Given the description of an element on the screen output the (x, y) to click on. 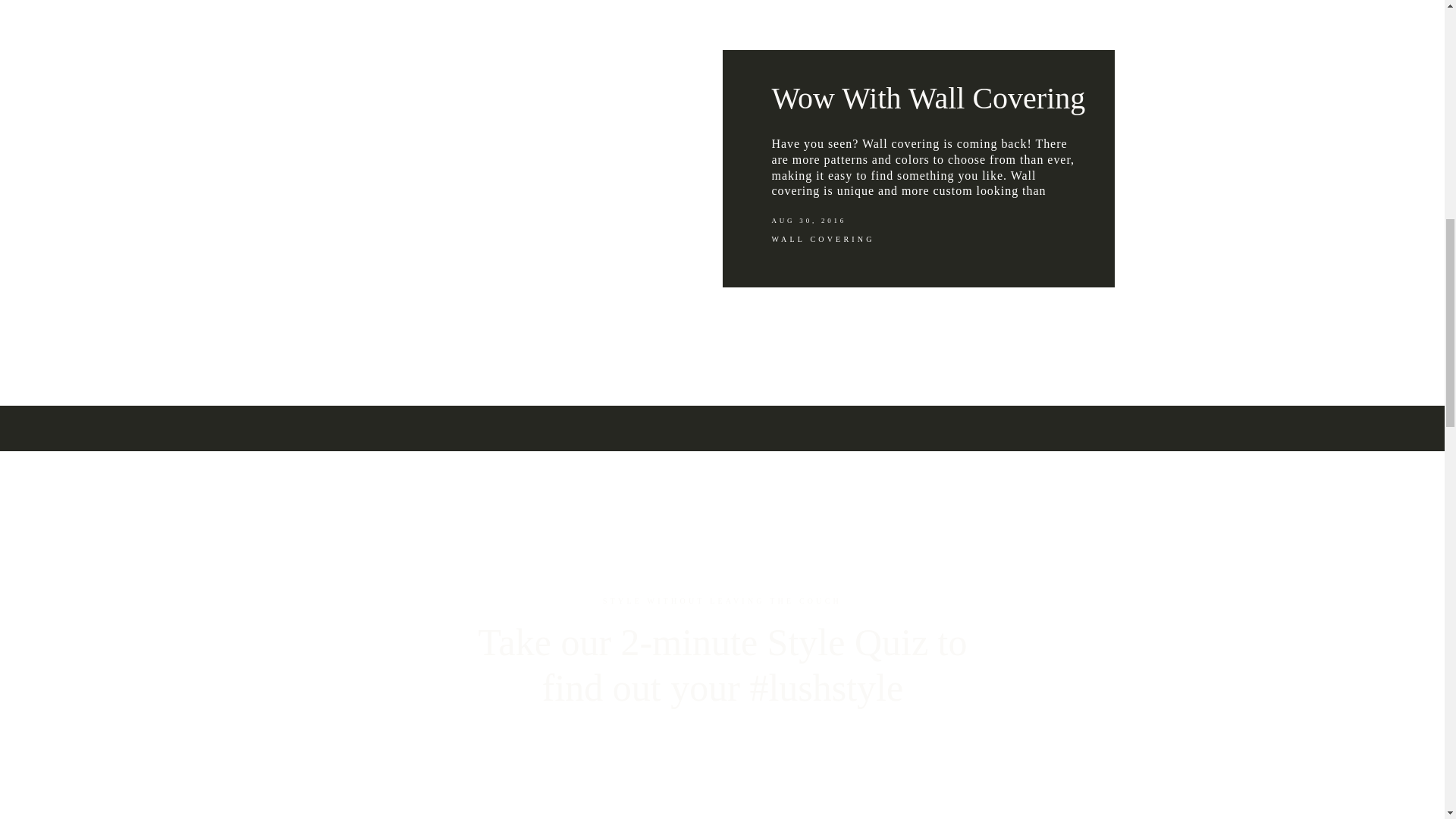
WALL COVERING (823, 239)
Wow With Wall Covering (928, 98)
